Given the description of an element on the screen output the (x, y) to click on. 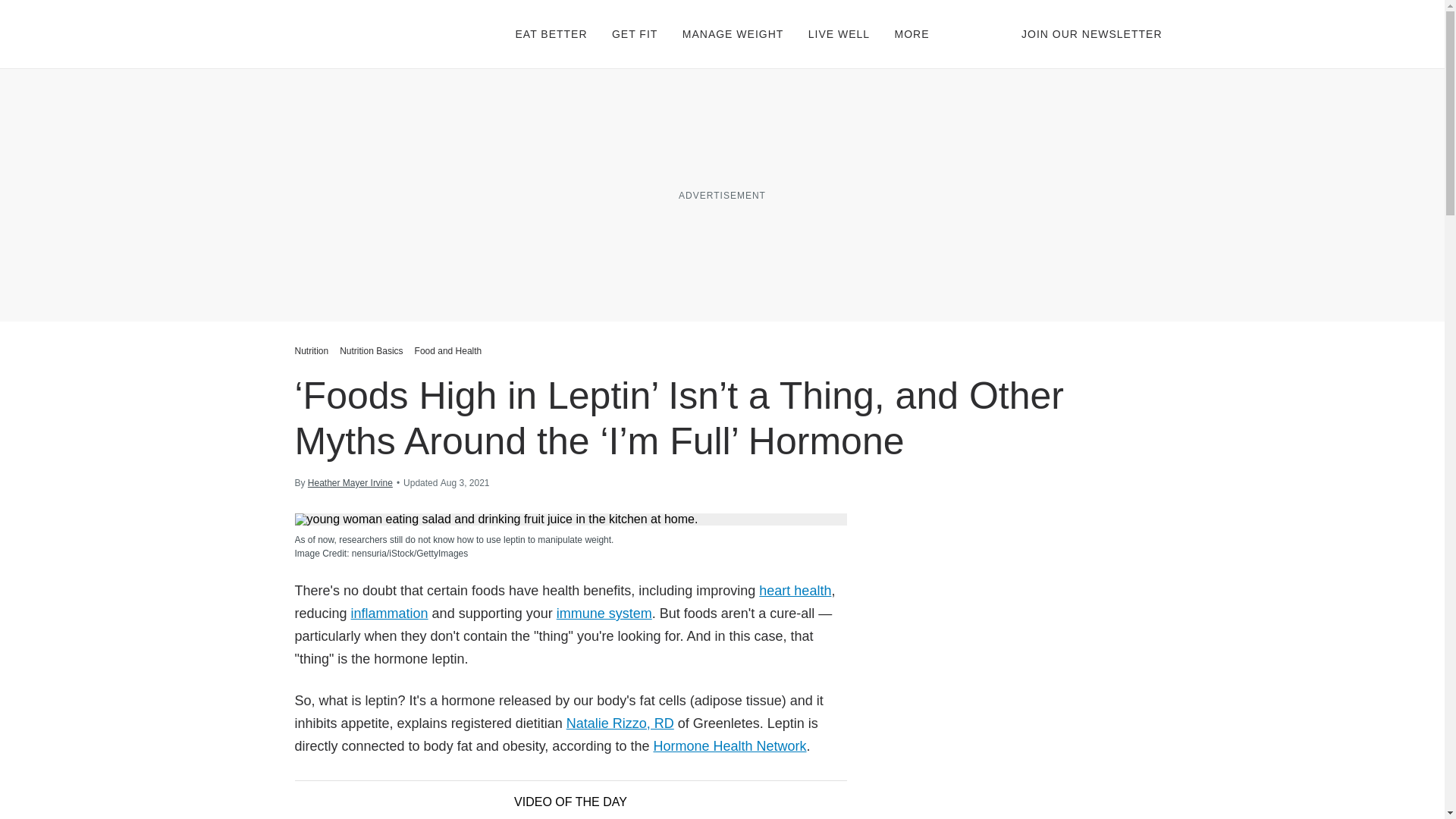
Nutrition (312, 350)
JOIN OUR NEWSLETTER (1091, 33)
Hormone Health Network (729, 745)
inflammation (389, 613)
LIVE WELL (838, 33)
heart health (794, 590)
immune system (604, 613)
MANAGE WEIGHT (733, 33)
Nutrition Basics (371, 350)
Food and Health (448, 350)
